Given the description of an element on the screen output the (x, y) to click on. 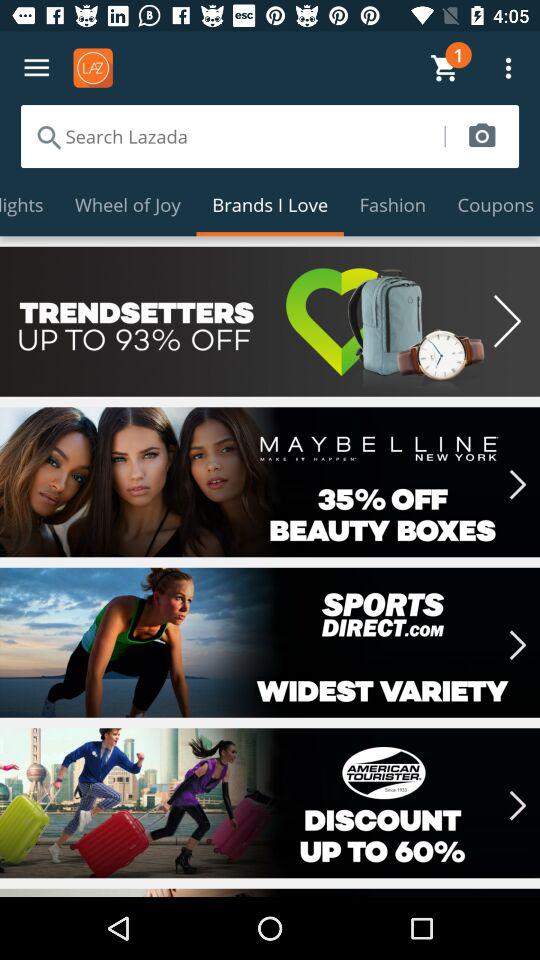
click to more details (270, 642)
